Given the description of an element on the screen output the (x, y) to click on. 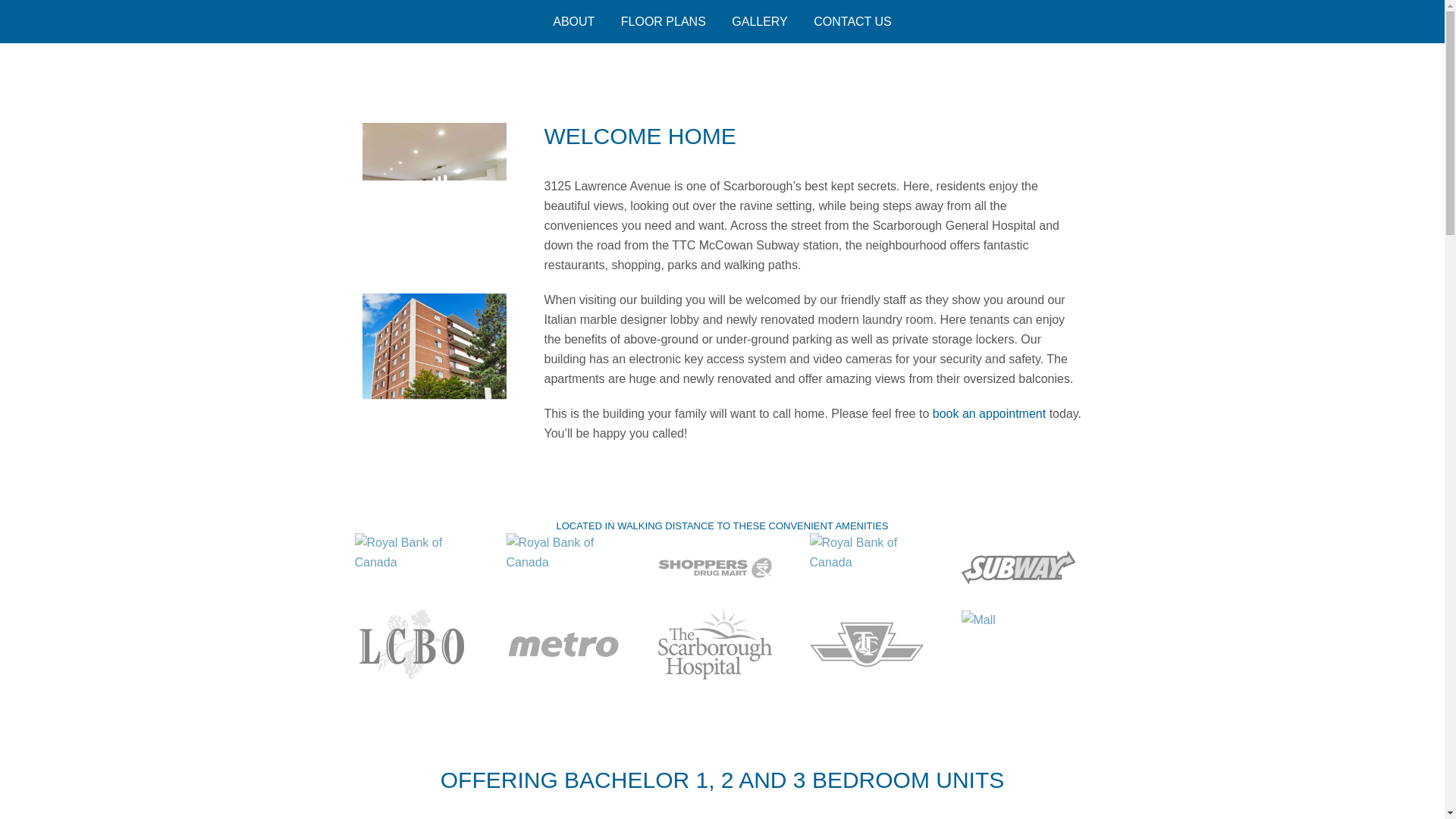
CONTACT US (852, 21)
book an appointment (989, 413)
GALLERY (759, 21)
FLOOR PLANS (663, 21)
ABOUT (573, 21)
LEARN MORE (722, 366)
LEARN MORE (722, 366)
book an appointment (989, 413)
